Given the description of an element on the screen output the (x, y) to click on. 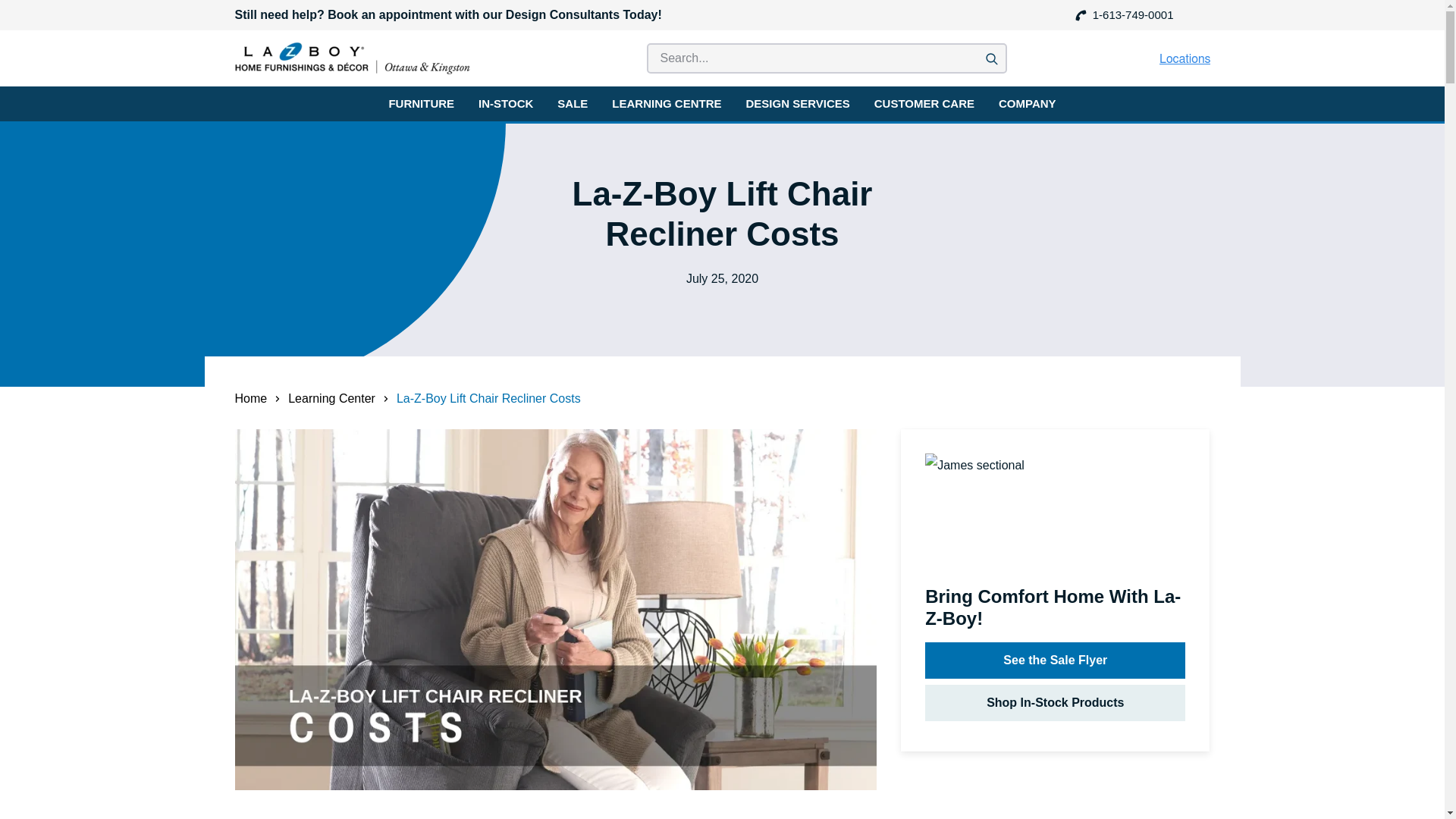
1-613-749-0001 (1124, 15)
